Given the description of an element on the screen output the (x, y) to click on. 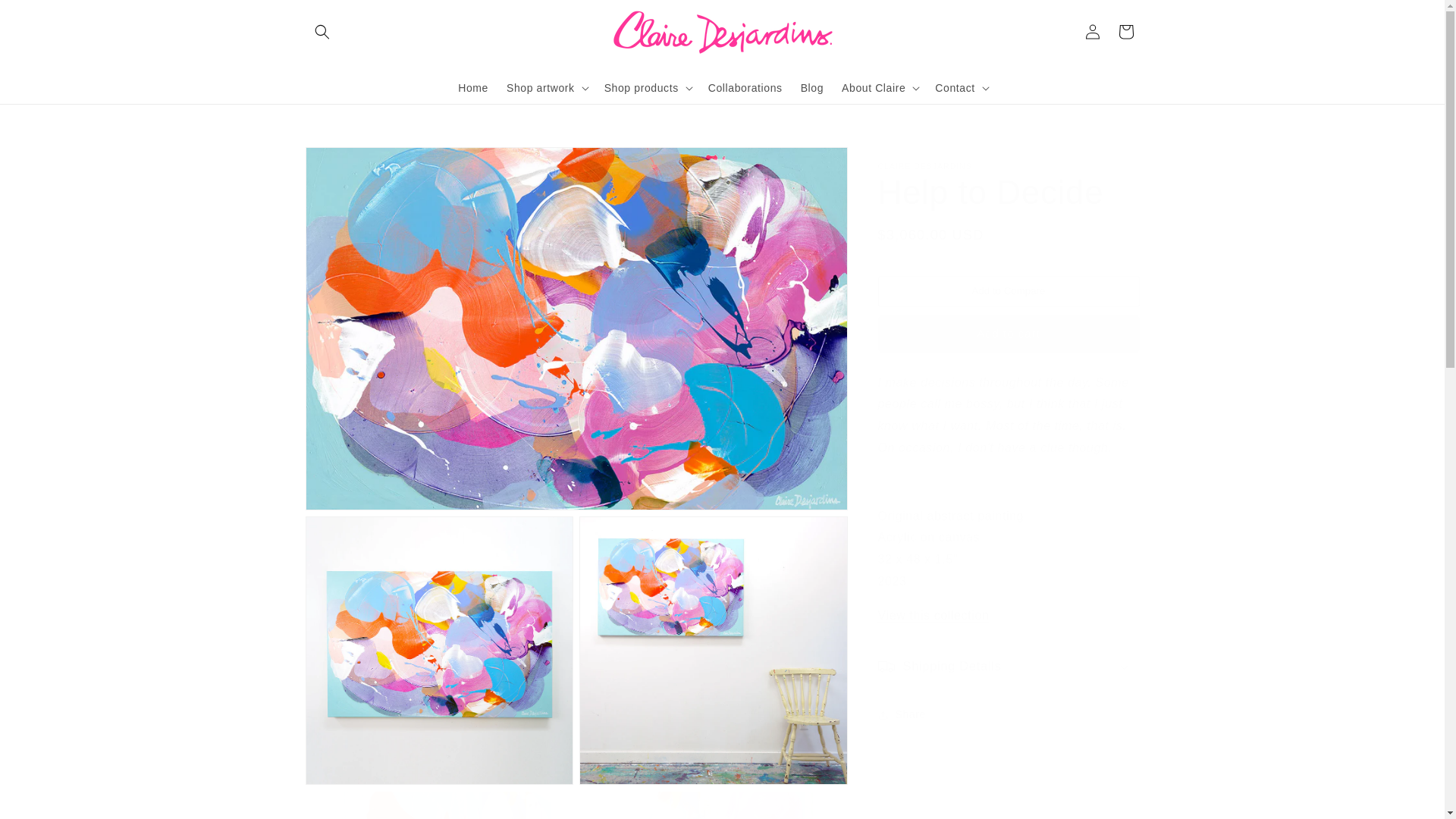
Open media 5 in modal (713, 805)
Home (472, 87)
Skip to content (47, 18)
Open media 3 in modal (713, 650)
Open media 2 in modal (438, 650)
Open media 4 in modal (438, 805)
